Given the description of an element on the screen output the (x, y) to click on. 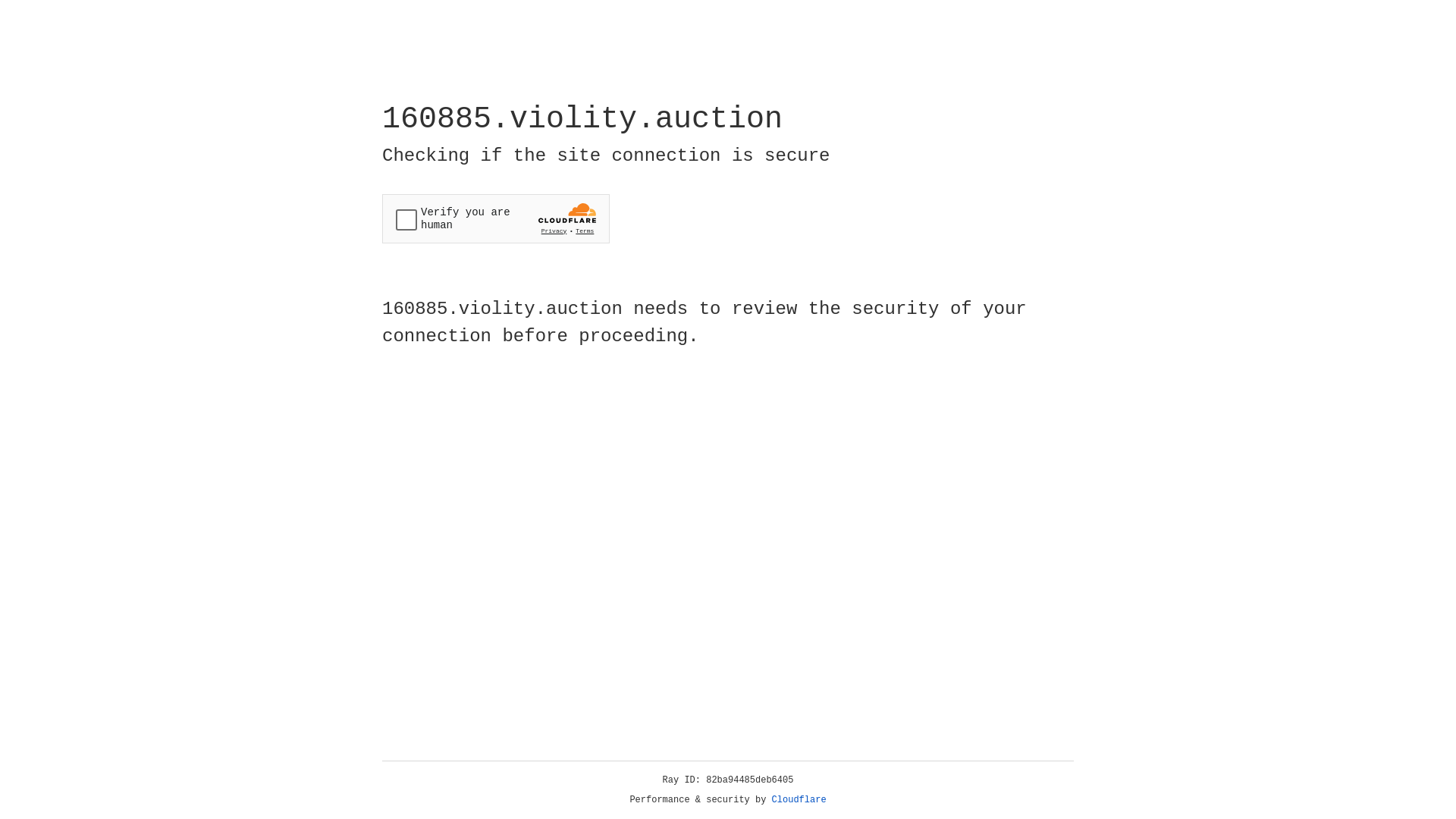
Widget containing a Cloudflare security challenge Element type: hover (495, 218)
Cloudflare Element type: text (798, 799)
